Given the description of an element on the screen output the (x, y) to click on. 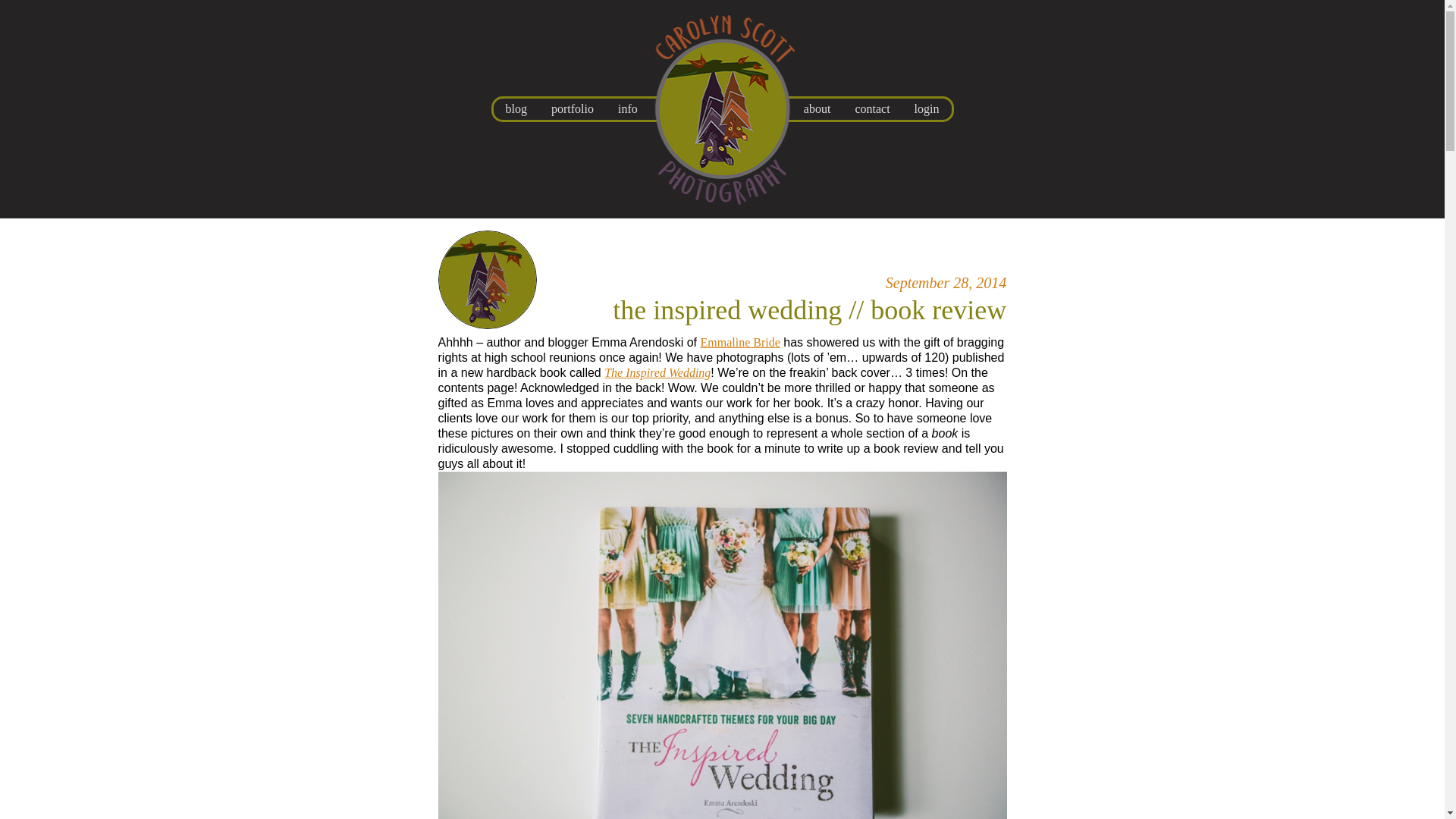
portfolio (572, 108)
The Inspired Wedding (657, 372)
blog (515, 108)
info (627, 108)
login (926, 108)
about (817, 108)
contact (871, 108)
Emmaline Bride (740, 341)
